Given the description of an element on the screen output the (x, y) to click on. 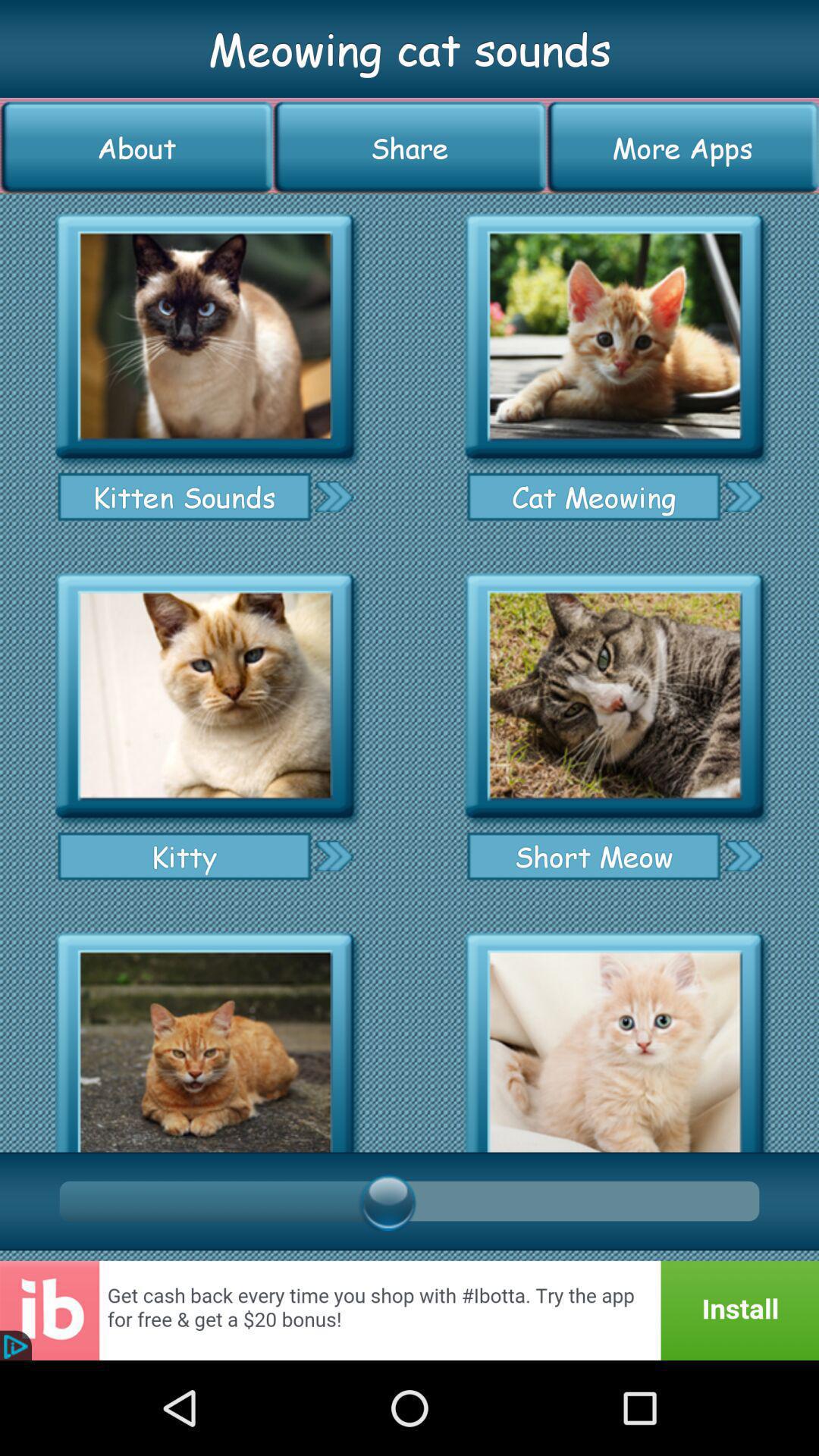
share cat meows (333, 855)
